Given the description of an element on the screen output the (x, y) to click on. 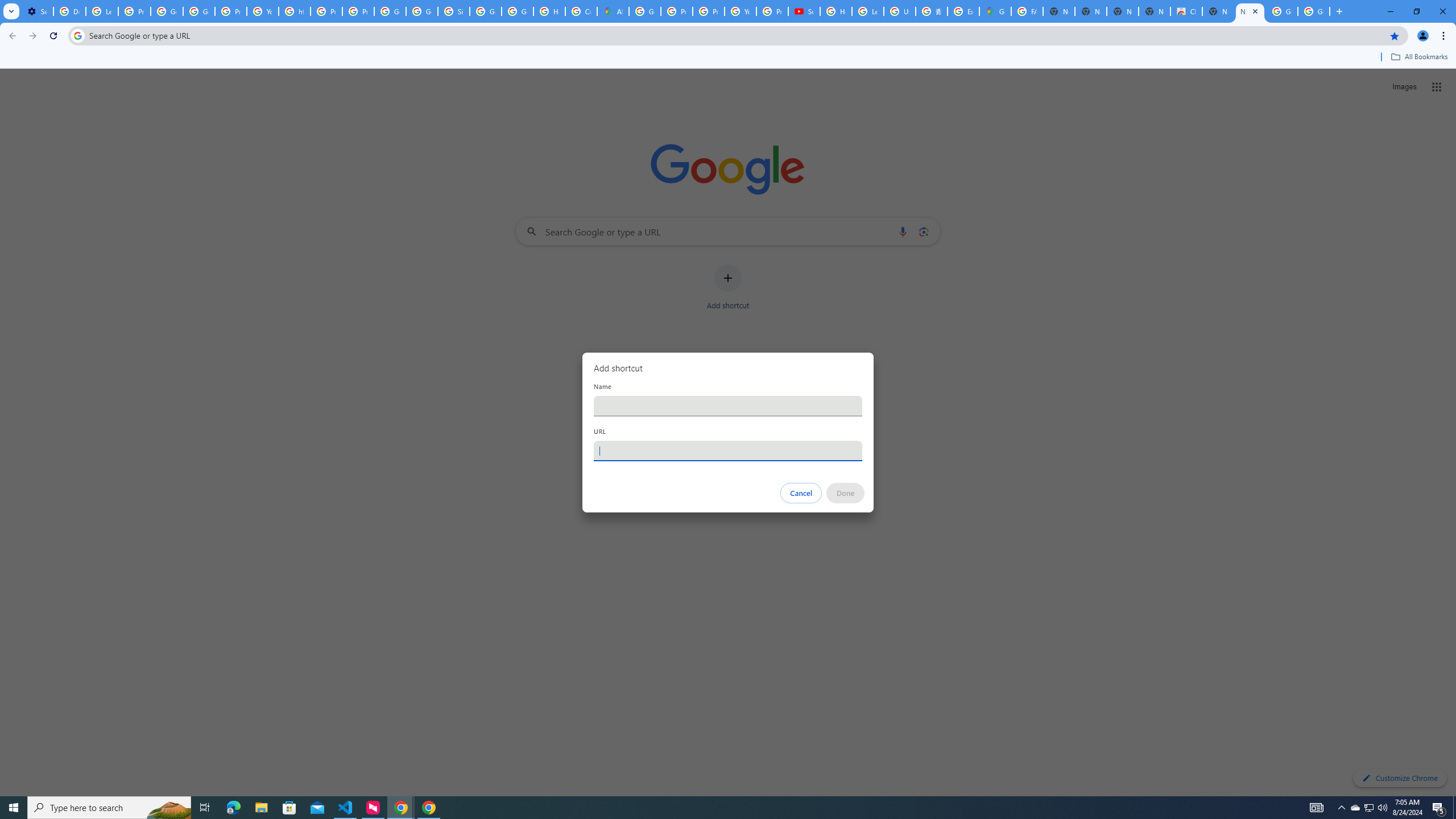
Bookmarks (728, 58)
Learn how to find your photos - Google Photos Help (101, 11)
Google Images (1281, 11)
Create your Google Account (581, 11)
Settings - Performance (37, 11)
